Given the description of an element on the screen output the (x, y) to click on. 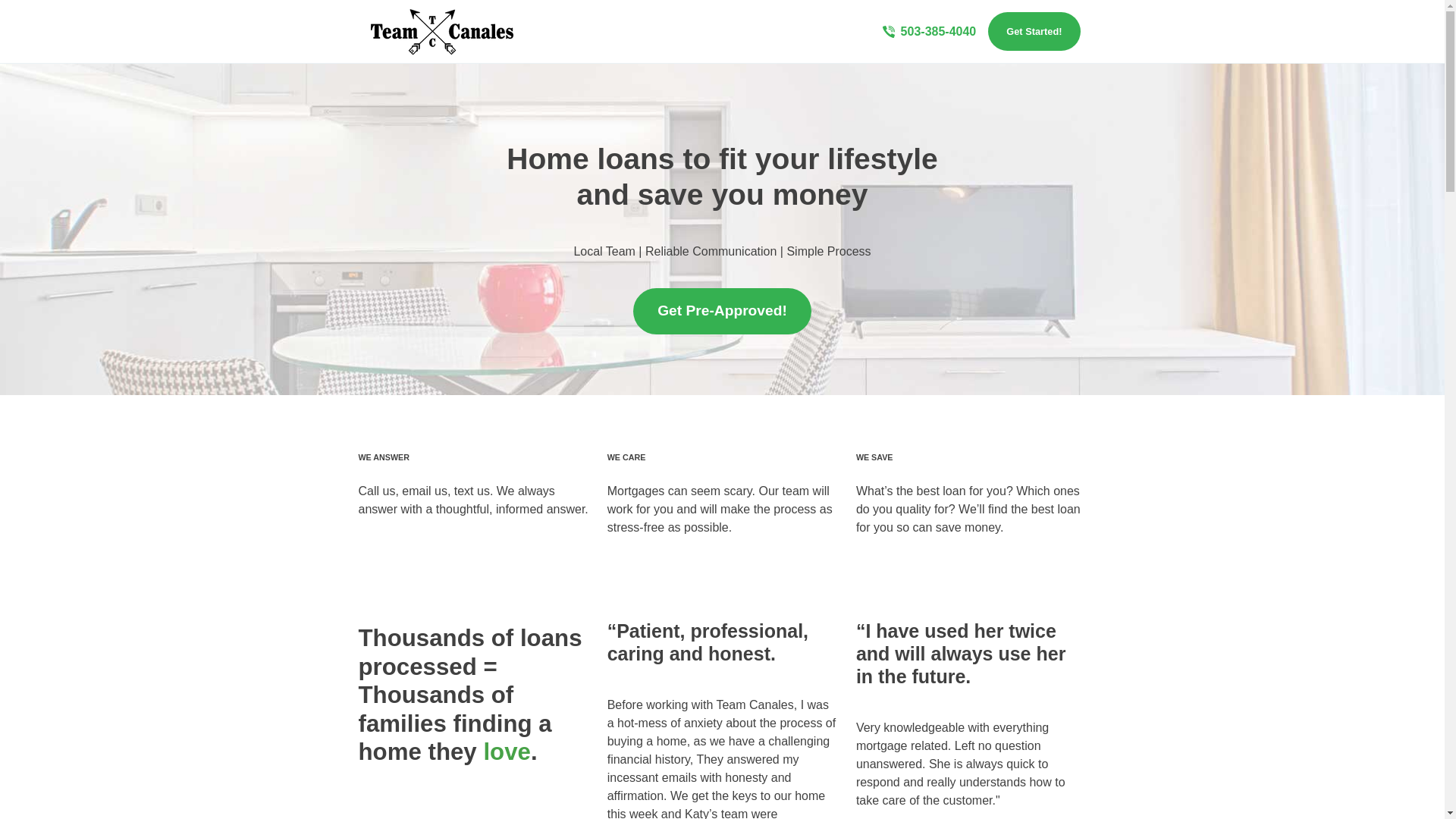
503-385-4040 (929, 31)
Get Started! (1034, 31)
Get Pre-Approved! (721, 311)
